Given the description of an element on the screen output the (x, y) to click on. 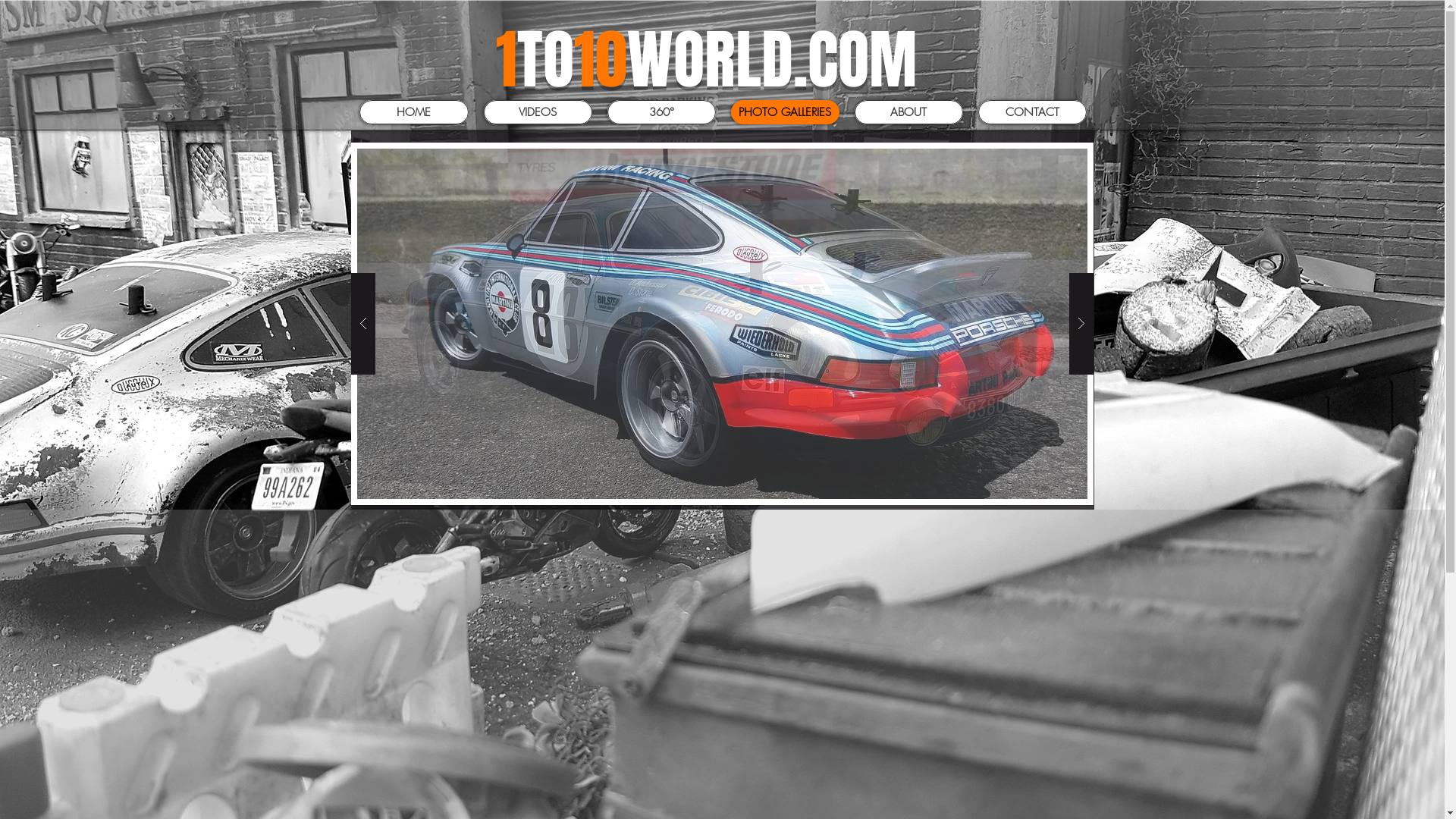
HOME Element type: text (413, 112)
PHOTO GALLERIES Element type: text (785, 112)
CONTACT Element type: text (1032, 112)
ABOUT Element type: text (907, 112)
VIDEOS Element type: text (537, 112)
